Given the description of an element on the screen output the (x, y) to click on. 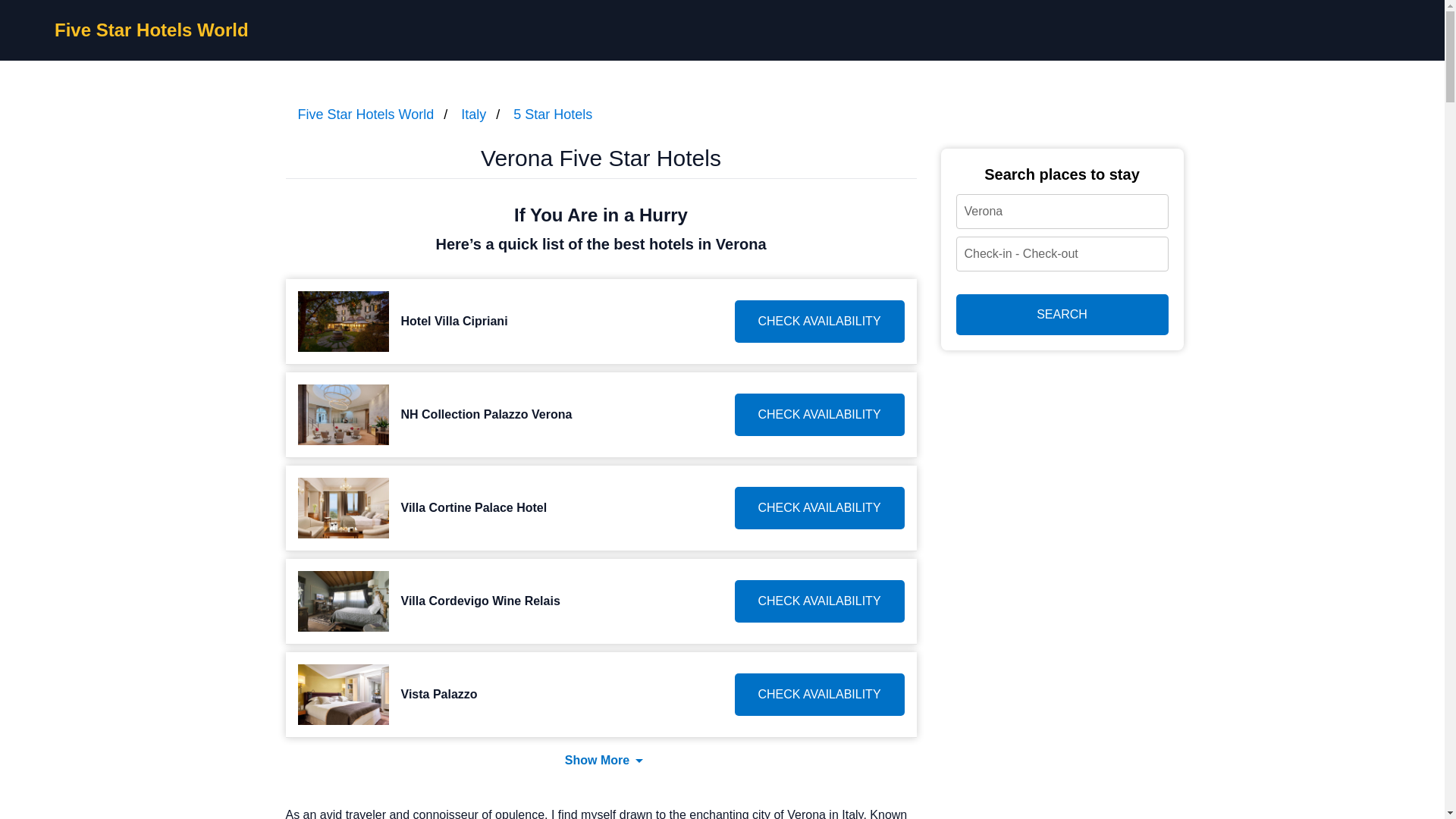
SEARCH (1061, 314)
5 Star Hotels (552, 114)
Italy (473, 114)
Five Star Hotels World (365, 114)
Five Star Hotels World (151, 29)
